Given the description of an element on the screen output the (x, y) to click on. 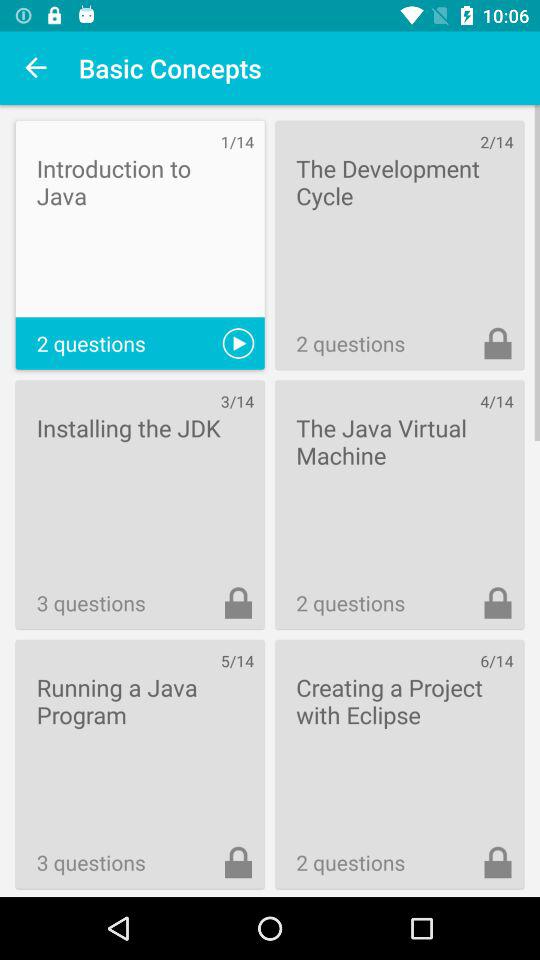
open item above the introduction to java (36, 68)
